Given the description of an element on the screen output the (x, y) to click on. 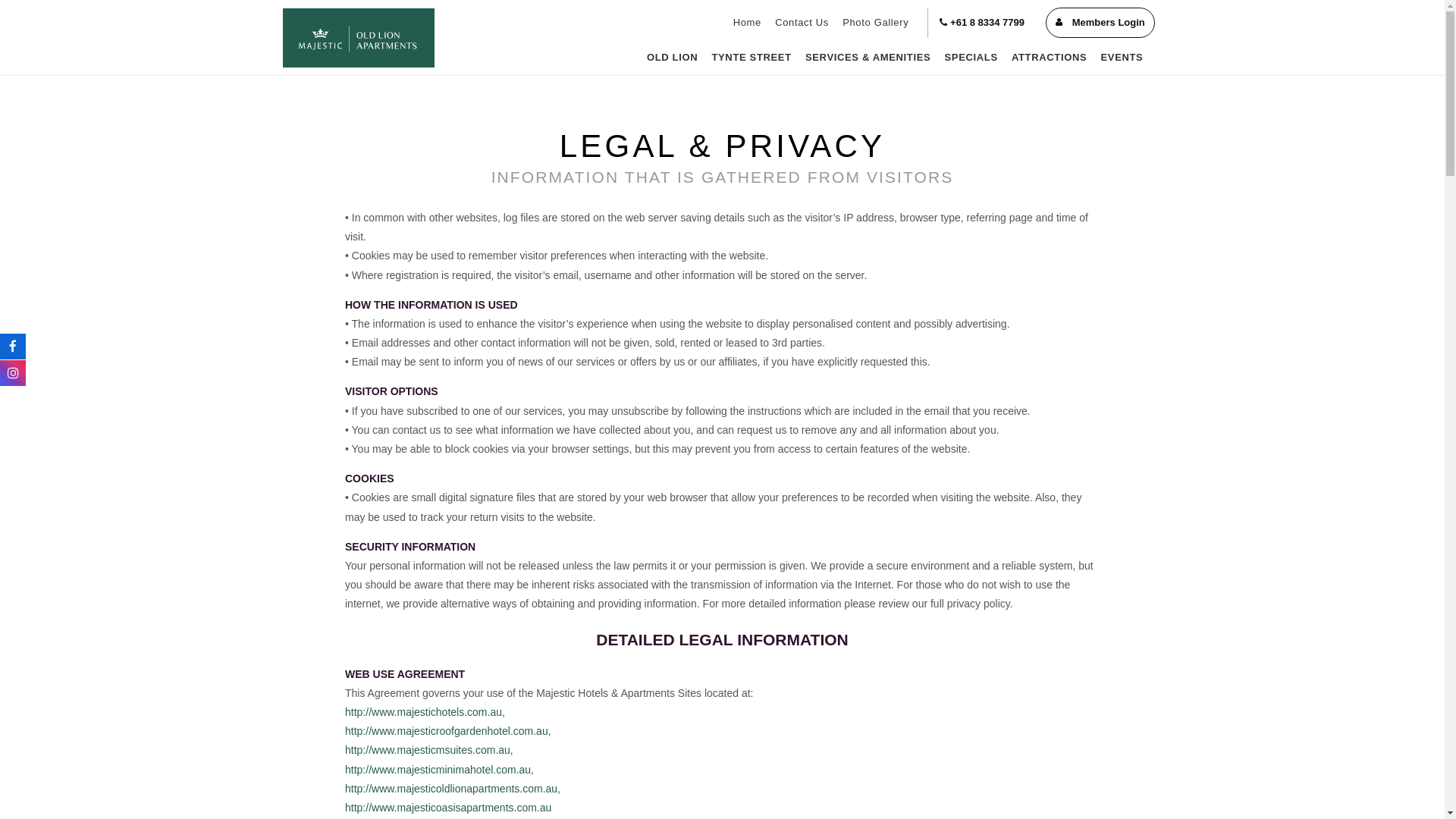
SERVICES & AMENITIES Element type: text (868, 57)
http://www.majesticoldlionapartments.com.au, Element type: text (452, 788)
OLD LION Element type: text (672, 57)
http://www.majestichotels.com.au, Element type: text (425, 712)
SPECIALS Element type: text (970, 57)
http://www.majesticmsuites.com.au, Element type: text (429, 749)
+61 8 8334 7799 Element type: text (981, 22)
http://www.majesticroofgardenhotel.com.au, Element type: text (448, 730)
Members Login Element type: text (1099, 22)
http://www.majesticoasisapartments.com.au Element type: text (448, 807)
ATTRACTIONS Element type: text (1049, 57)
http://www.majesticminimahotel.com.au, Element type: text (439, 769)
Contact Us Element type: text (801, 22)
Photo Gallery Element type: text (875, 22)
EVENTS Element type: text (1121, 57)
TYNTE STREET Element type: text (751, 57)
Home Element type: text (747, 22)
